Given the description of an element on the screen output the (x, y) to click on. 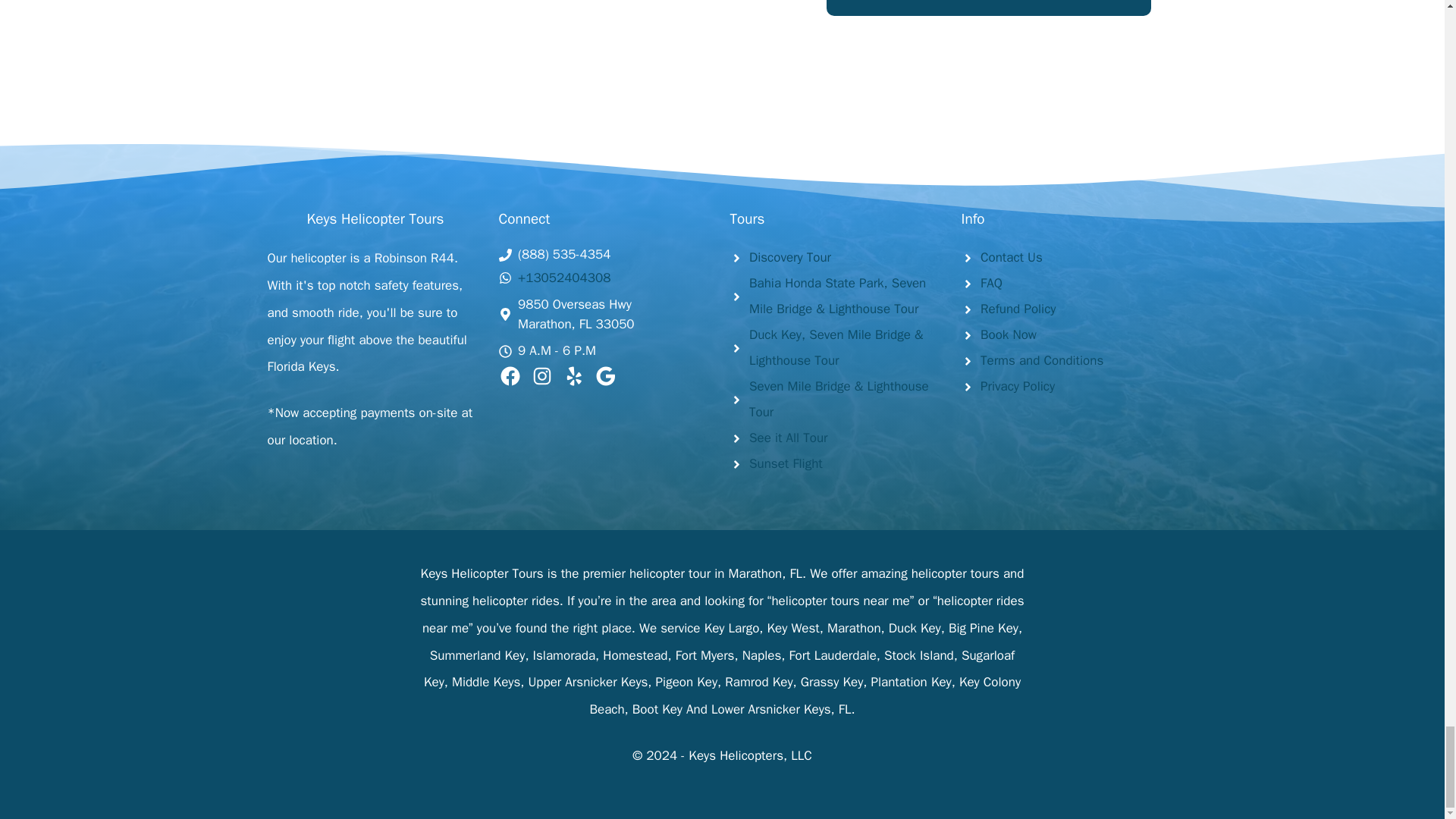
Yelp (573, 375)
Sunset Flight (785, 463)
Facebook (510, 375)
FAQ (991, 283)
Book Now (1007, 334)
Discovery Tour (790, 257)
Refund Policy (1017, 308)
Instagram (542, 375)
Contact Us (1010, 257)
Privacy Policy (1016, 385)
See it All Tour (788, 437)
Terms and Conditions (1041, 360)
Google (605, 375)
